Given the description of an element on the screen output the (x, y) to click on. 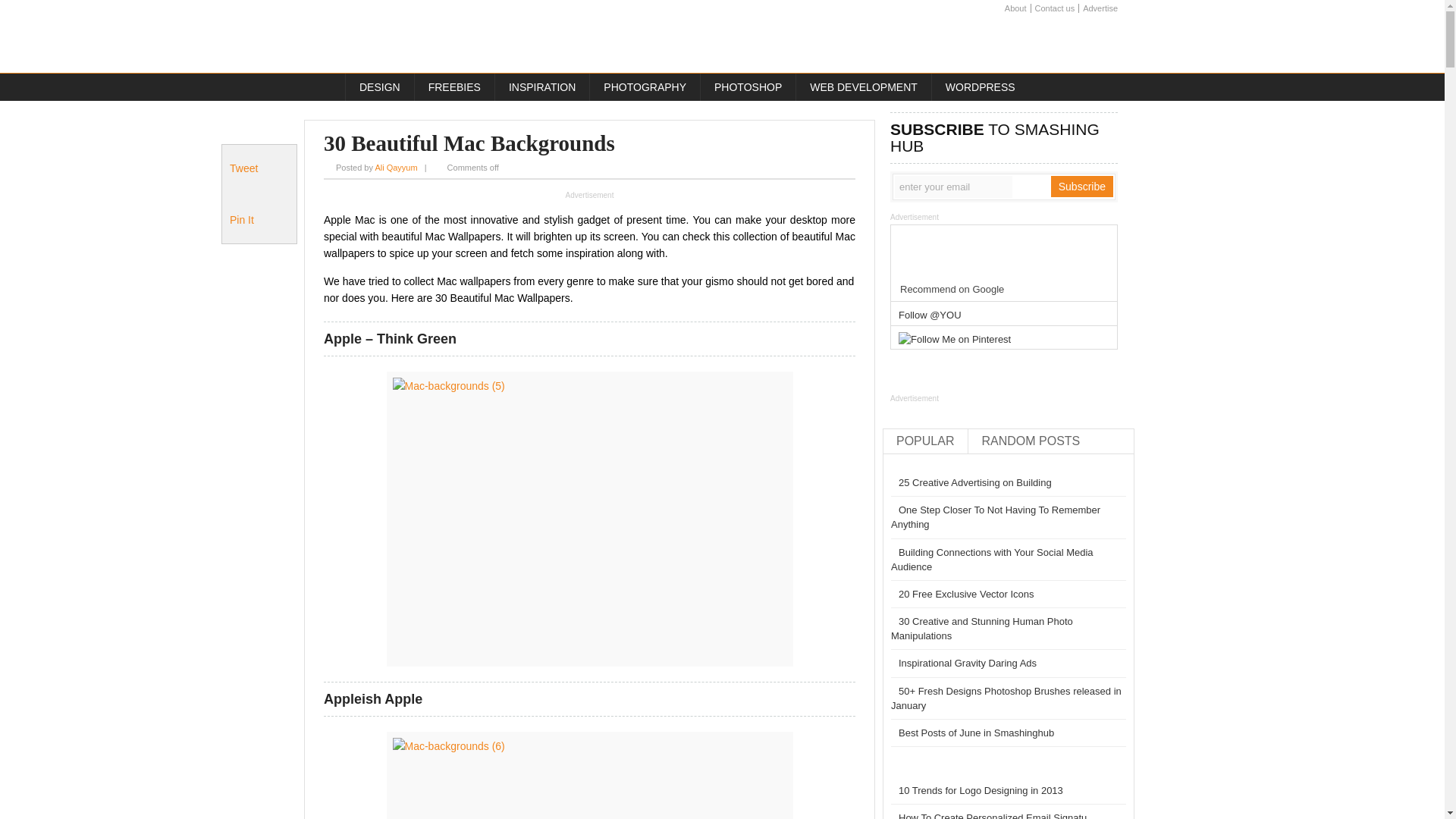
Enter your email (953, 187)
About Smashing Hub (1015, 8)
Facebook (1053, 42)
INSPIRATION (542, 86)
Subscribe (1082, 186)
RSS (1106, 42)
FREEBIES (454, 86)
PHOTOGRAPHY (644, 86)
HOME (324, 86)
Contact us (1054, 8)
DESIGN (379, 86)
Permalink to 25 Creative Advertising on Building (971, 482)
Twitter (1026, 42)
Google Plus (1080, 42)
